Given the description of an element on the screen output the (x, y) to click on. 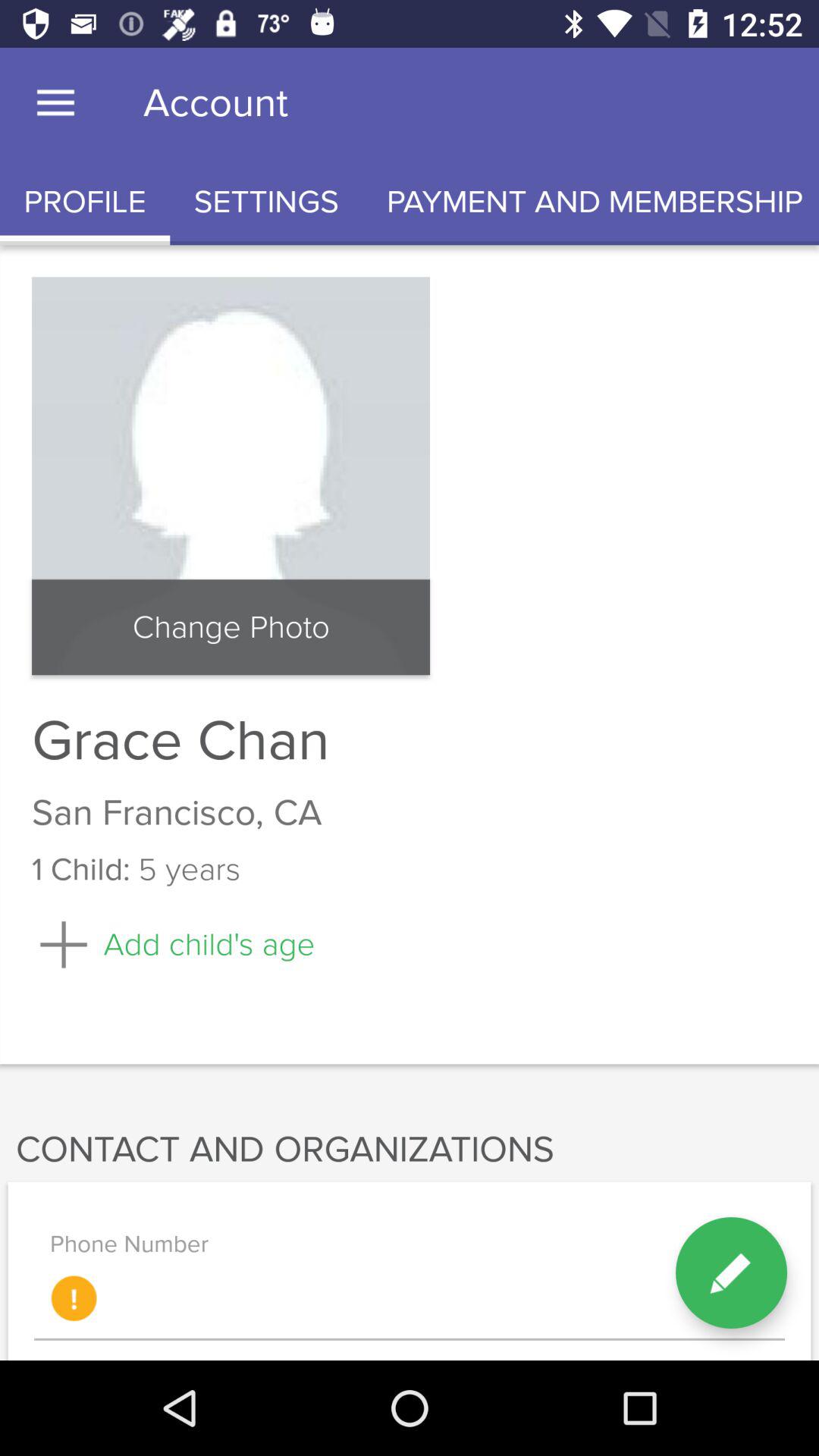
select the item at the bottom right corner (731, 1272)
